Given the description of an element on the screen output the (x, y) to click on. 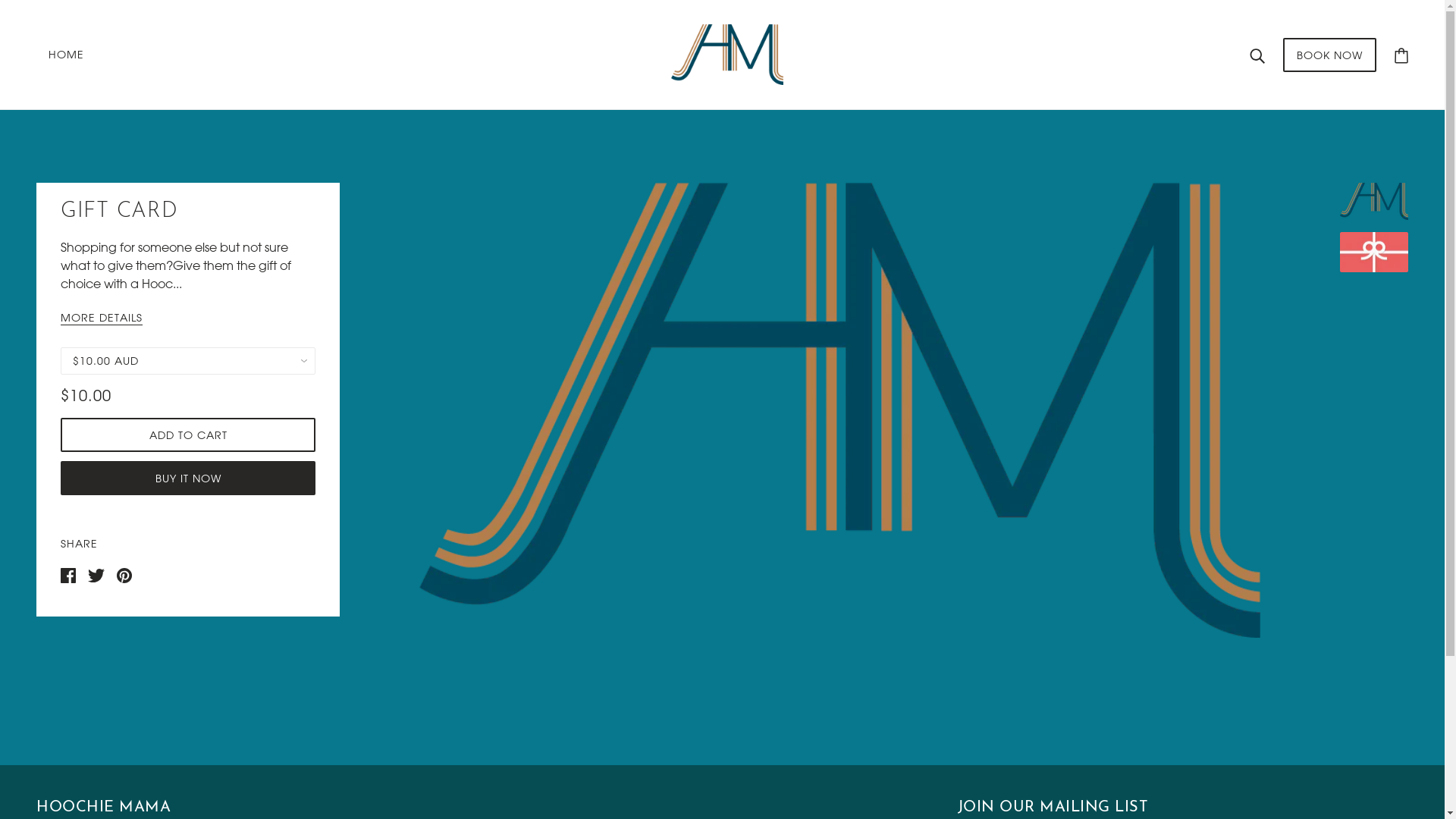
HOME Element type: text (66, 54)
BUY IT NOW Element type: text (187, 478)
/ Element type: hover (726, 52)
ADD TO CART Element type: text (187, 434)
BOOK NOW Element type: text (1329, 54)
MORE DETAILS Element type: text (101, 318)
